Given the description of an element on the screen output the (x, y) to click on. 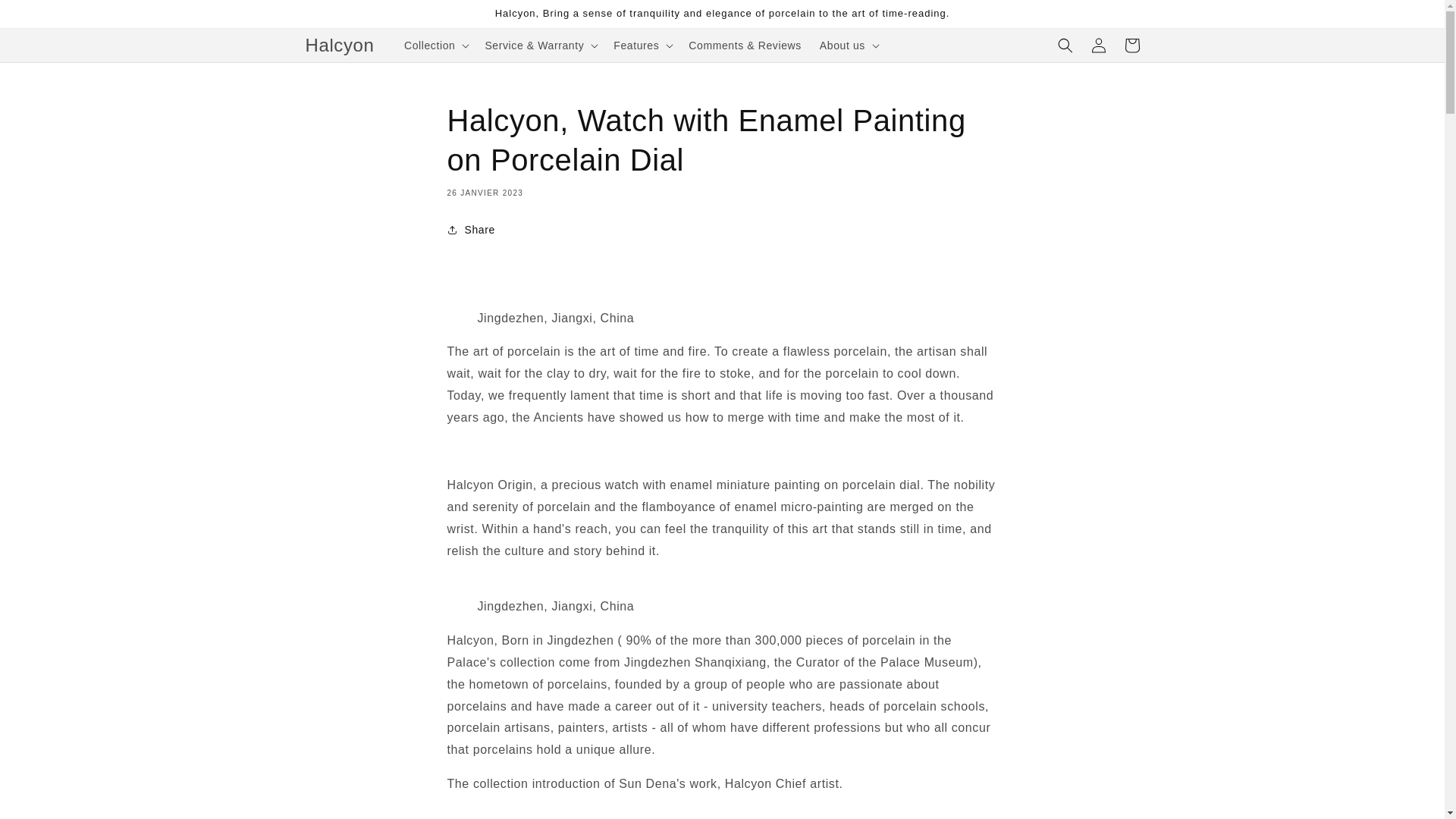
Panier (1131, 45)
Connexion (1098, 45)
Halcyon (339, 44)
Ignorer et passer au contenu (45, 17)
